Given the description of an element on the screen output the (x, y) to click on. 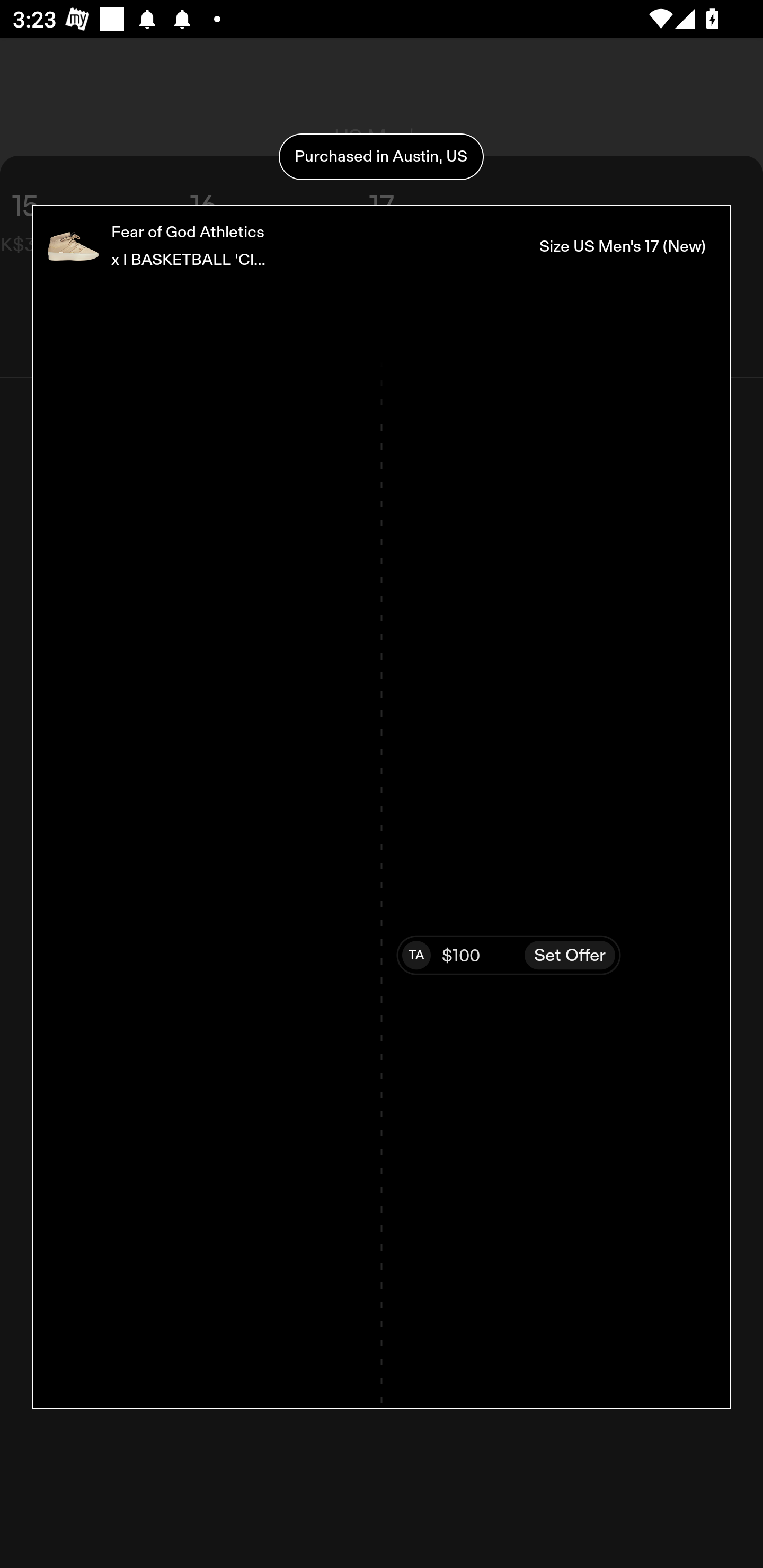
Purchased in Austin, US (380, 156)
